Given the description of an element on the screen output the (x, y) to click on. 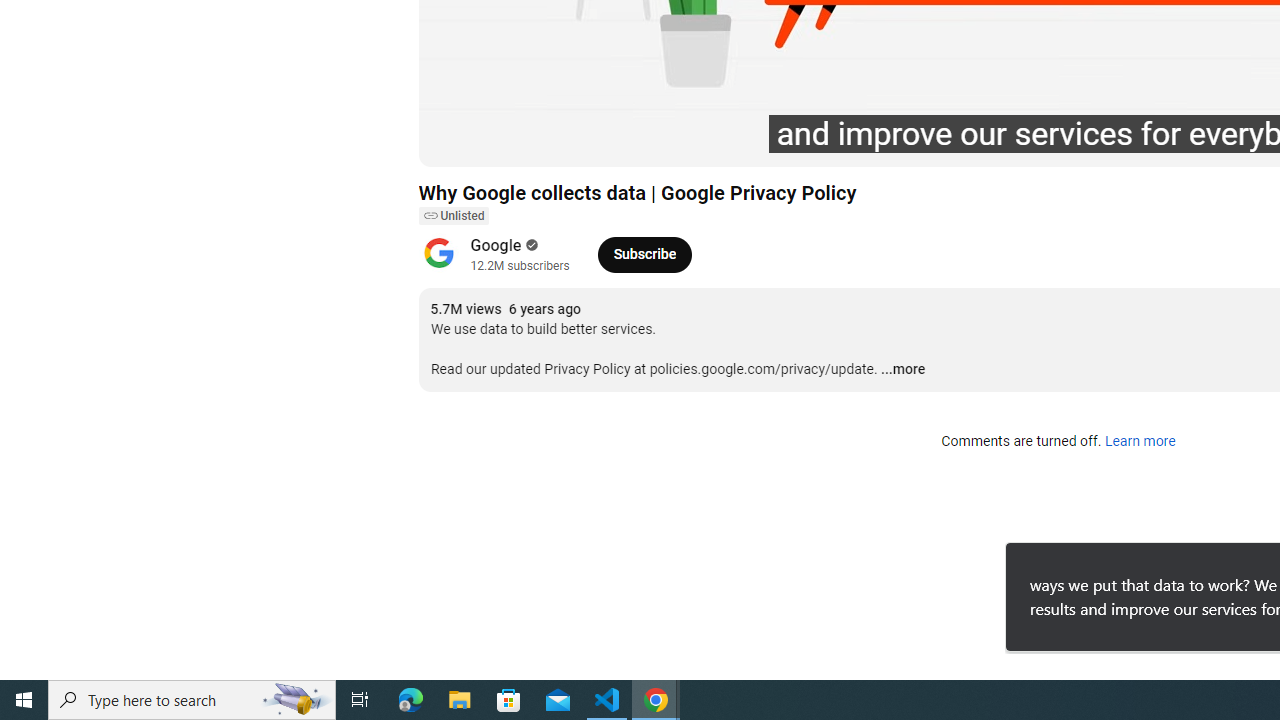
Mute (m) (548, 142)
Google (496, 245)
...more (902, 370)
Verified (530, 245)
Learn more (1139, 442)
Next (SHIFT+n) (500, 142)
Unlisted (453, 216)
Pause (k) (453, 142)
Subscribe to Google. (644, 254)
